Given the description of an element on the screen output the (x, y) to click on. 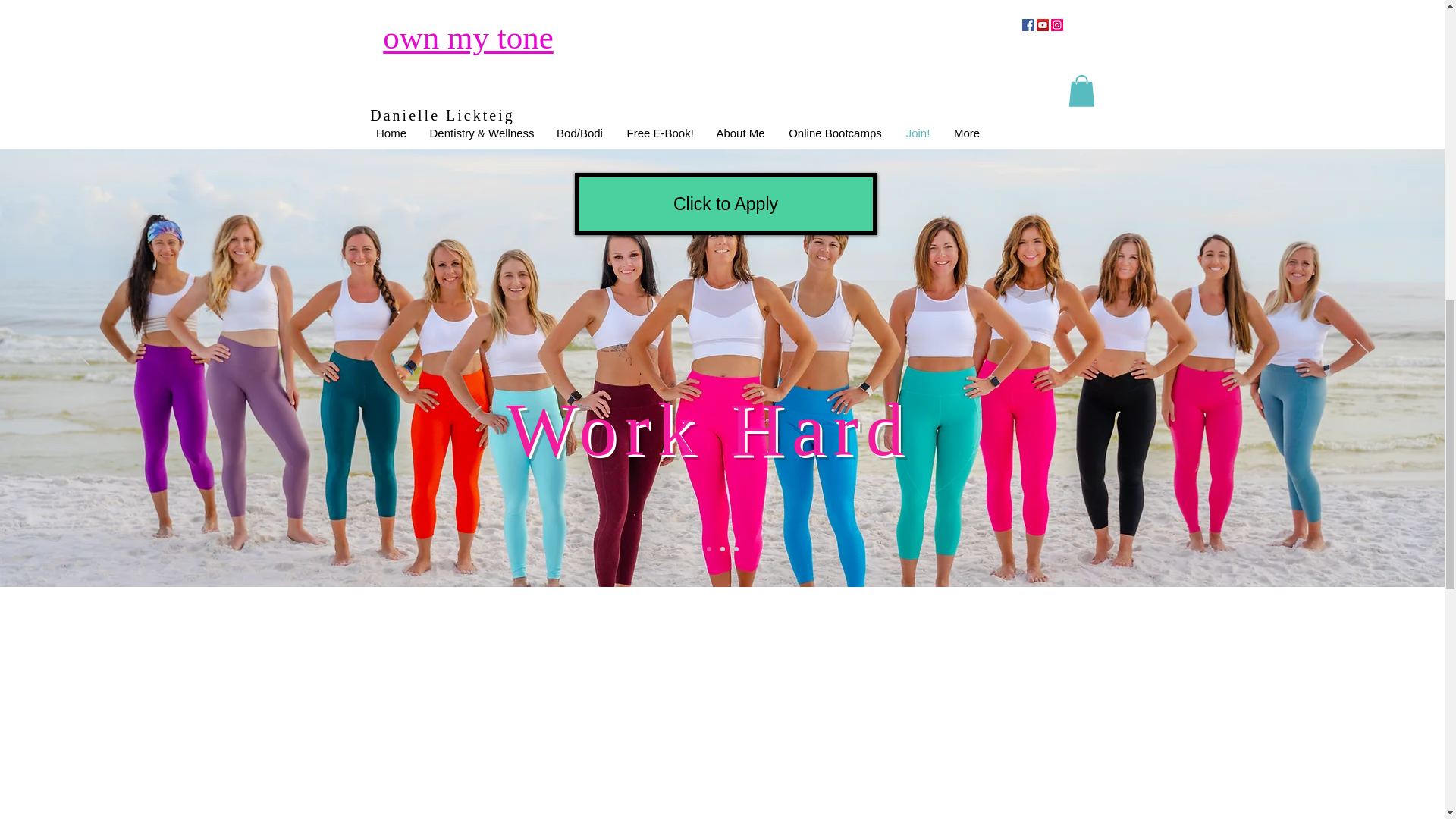
Click to Apply (726, 203)
